Given the description of an element on the screen output the (x, y) to click on. 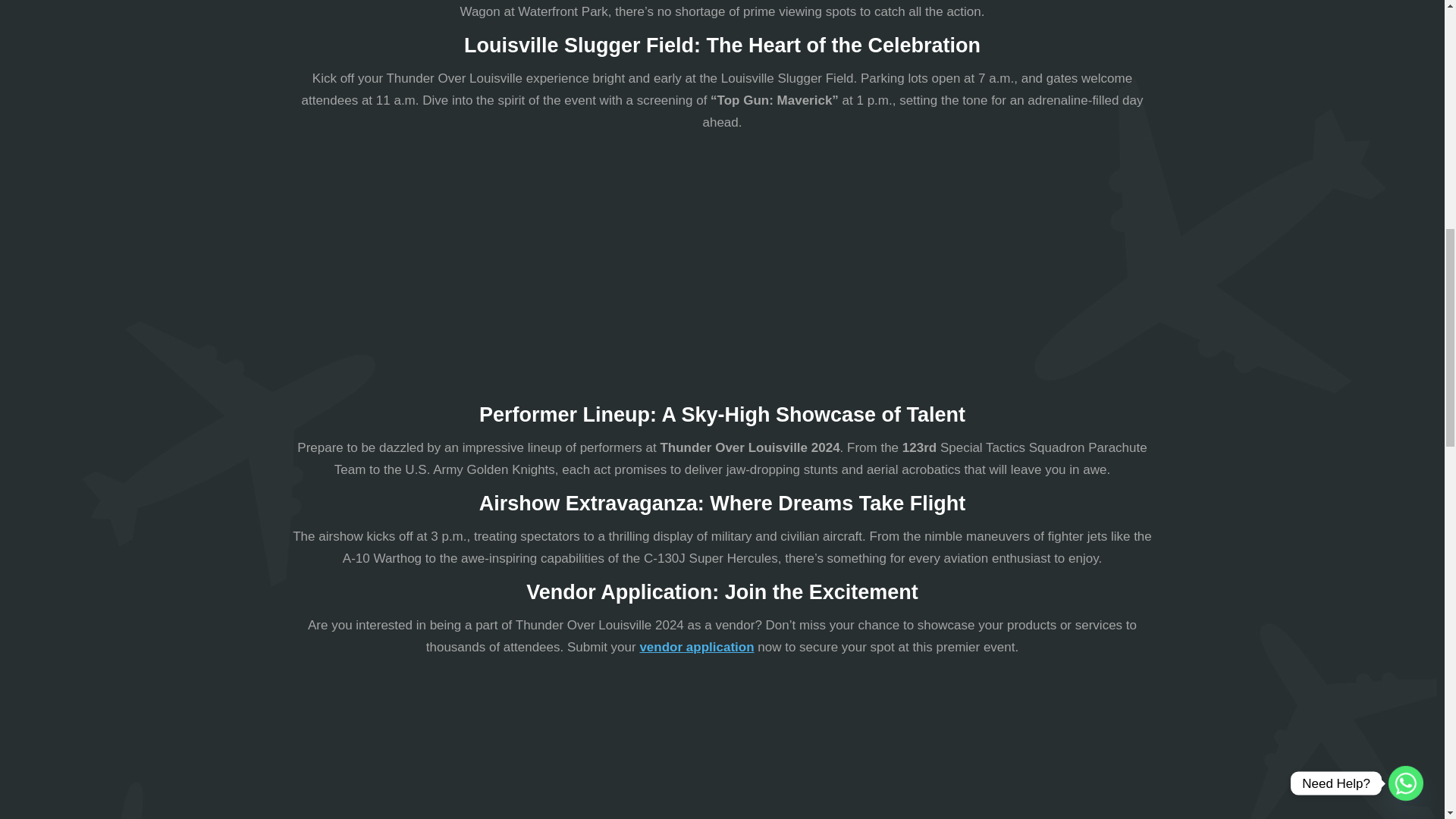
vendor application (696, 646)
